Given the description of an element on the screen output the (x, y) to click on. 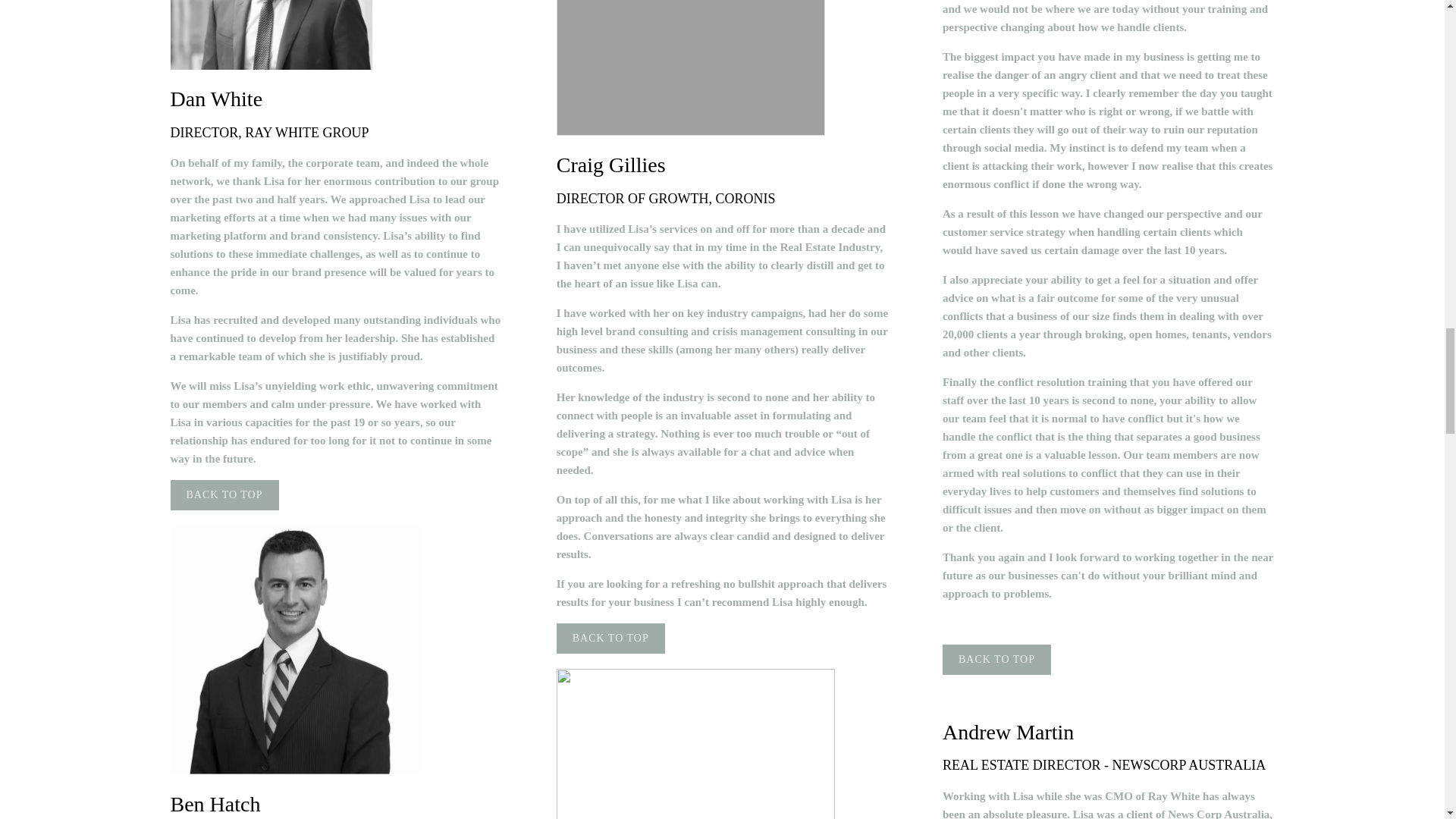
BACK TO TOP (996, 659)
BACK TO TOP (224, 494)
BACK TO TOP (610, 638)
